Given the description of an element on the screen output the (x, y) to click on. 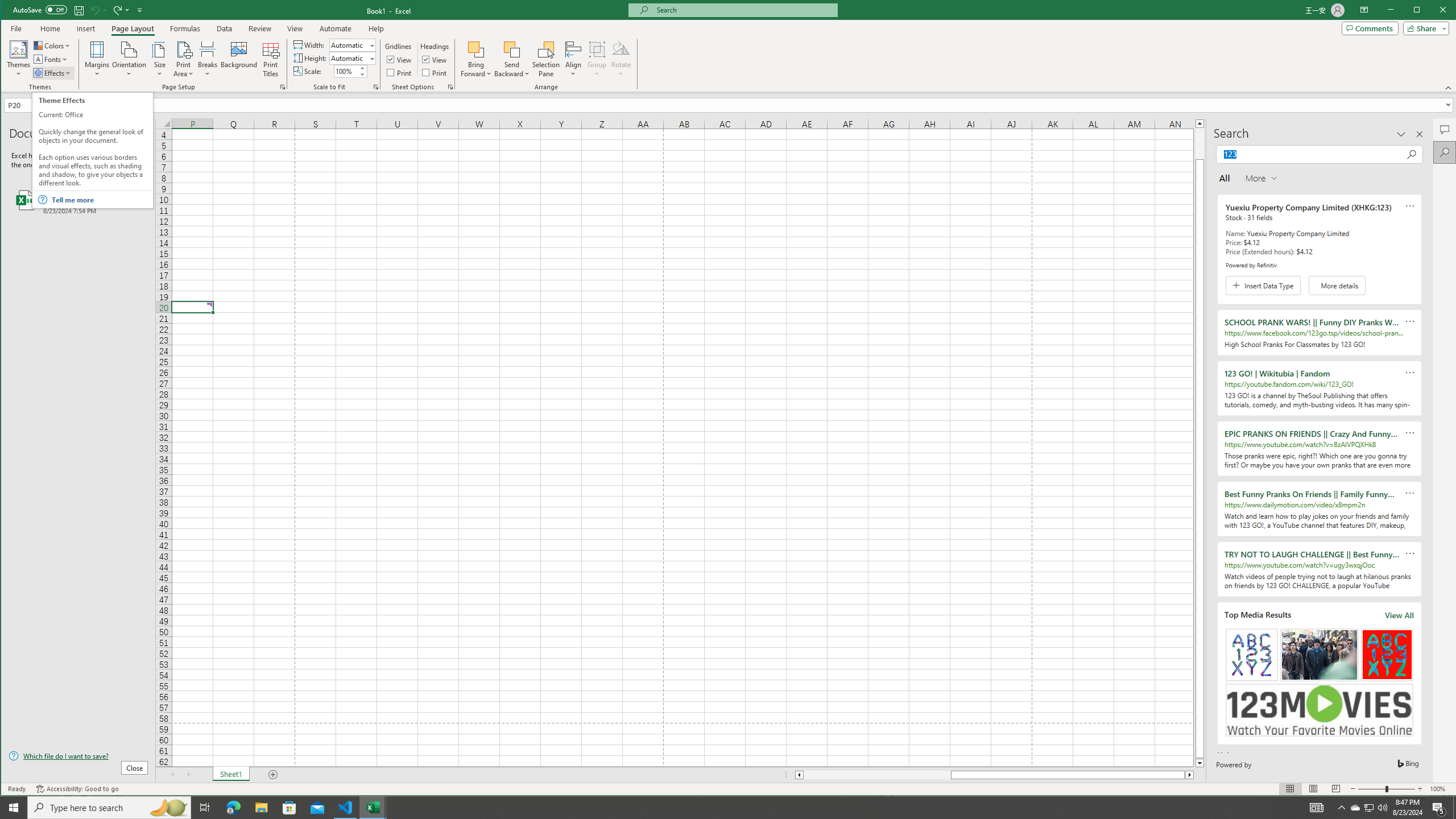
Page left (876, 774)
Breaks (207, 59)
Q2790: 100% (1382, 807)
Themes (18, 59)
Size (159, 59)
Page Setup (375, 86)
Width (349, 45)
Scale (345, 71)
